Given the description of an element on the screen output the (x, y) to click on. 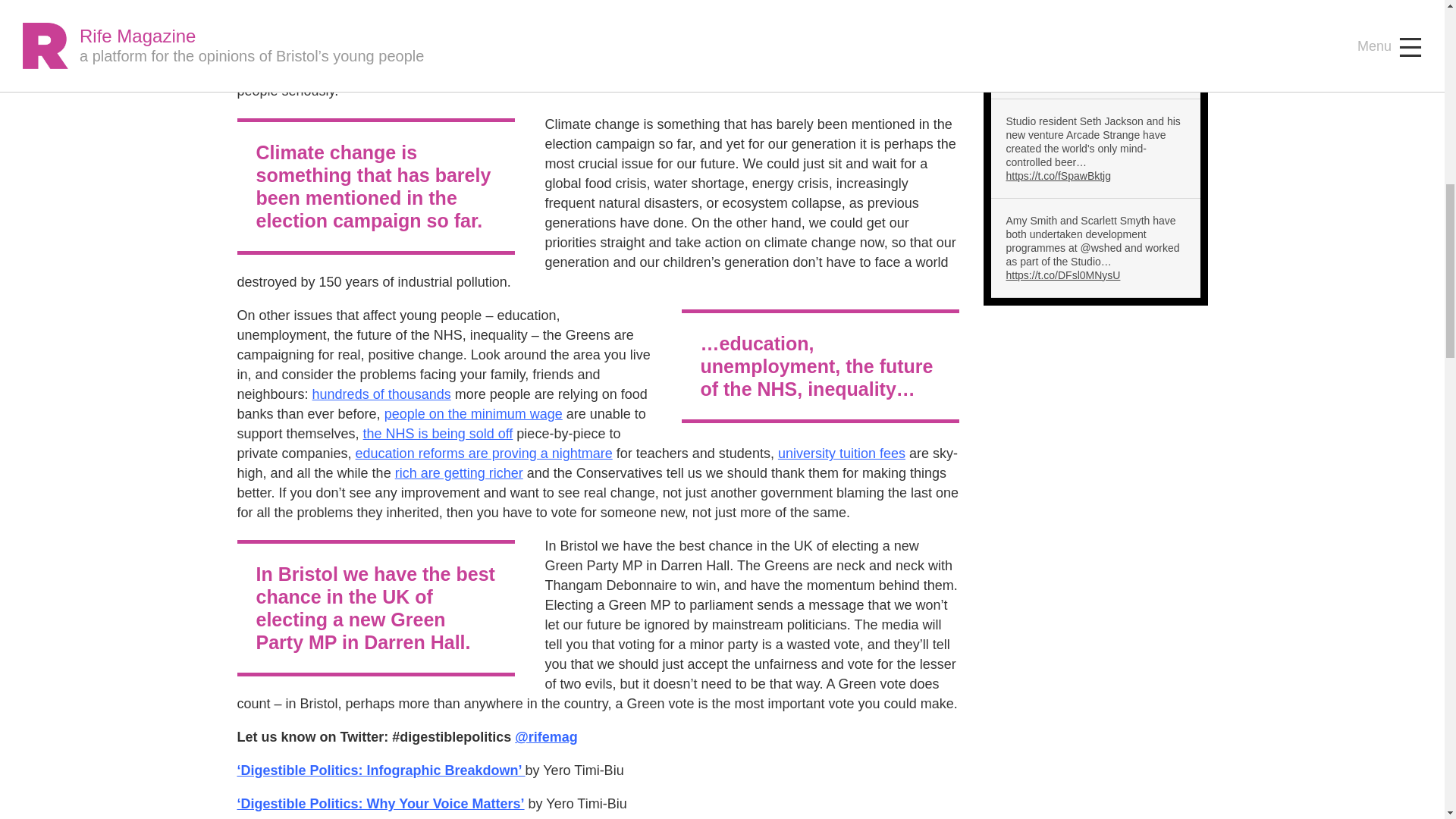
hundreds of thousands (382, 394)
people on the minimum wage (473, 413)
university tuition fees (841, 453)
Digestible Politics: Infographic Breakdown (379, 770)
the NHS is being sold off (437, 433)
education reforms are proving a nightmare (483, 453)
Digestible Politics: Why Your Voice Matters (379, 803)
rich are getting richer (458, 473)
